Given the description of an element on the screen output the (x, y) to click on. 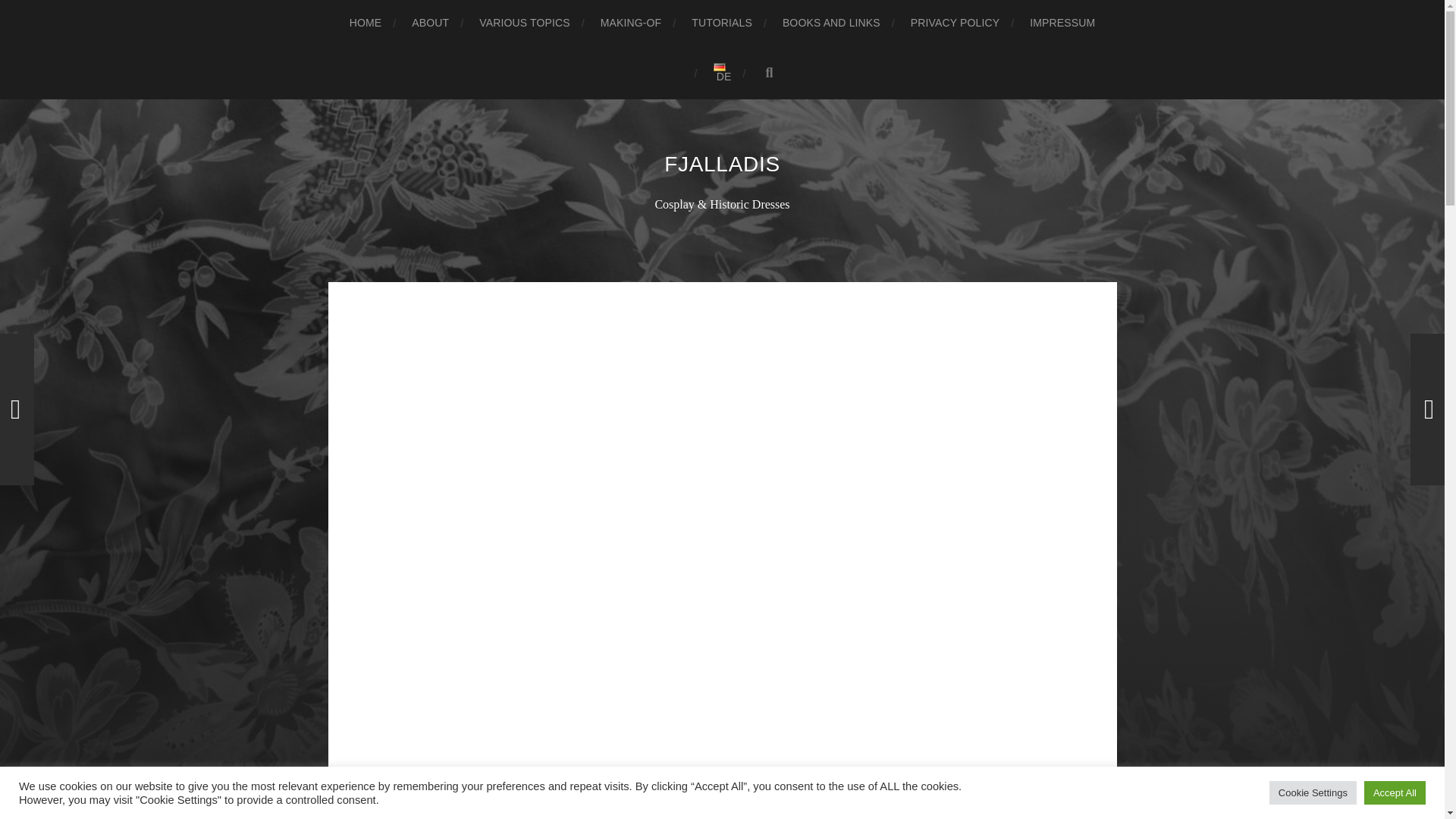
TUTORIALS (721, 22)
MAKING-OF (630, 22)
FJALLADIS (721, 164)
PRIVACY POLICY (954, 22)
BOOKS AND LINKS (831, 22)
IMPRESSUM (1061, 22)
VARIOUS TOPICS (524, 22)
HOME (365, 22)
DE (722, 72)
ABOUT (430, 22)
Previous (16, 409)
